Given the description of an element on the screen output the (x, y) to click on. 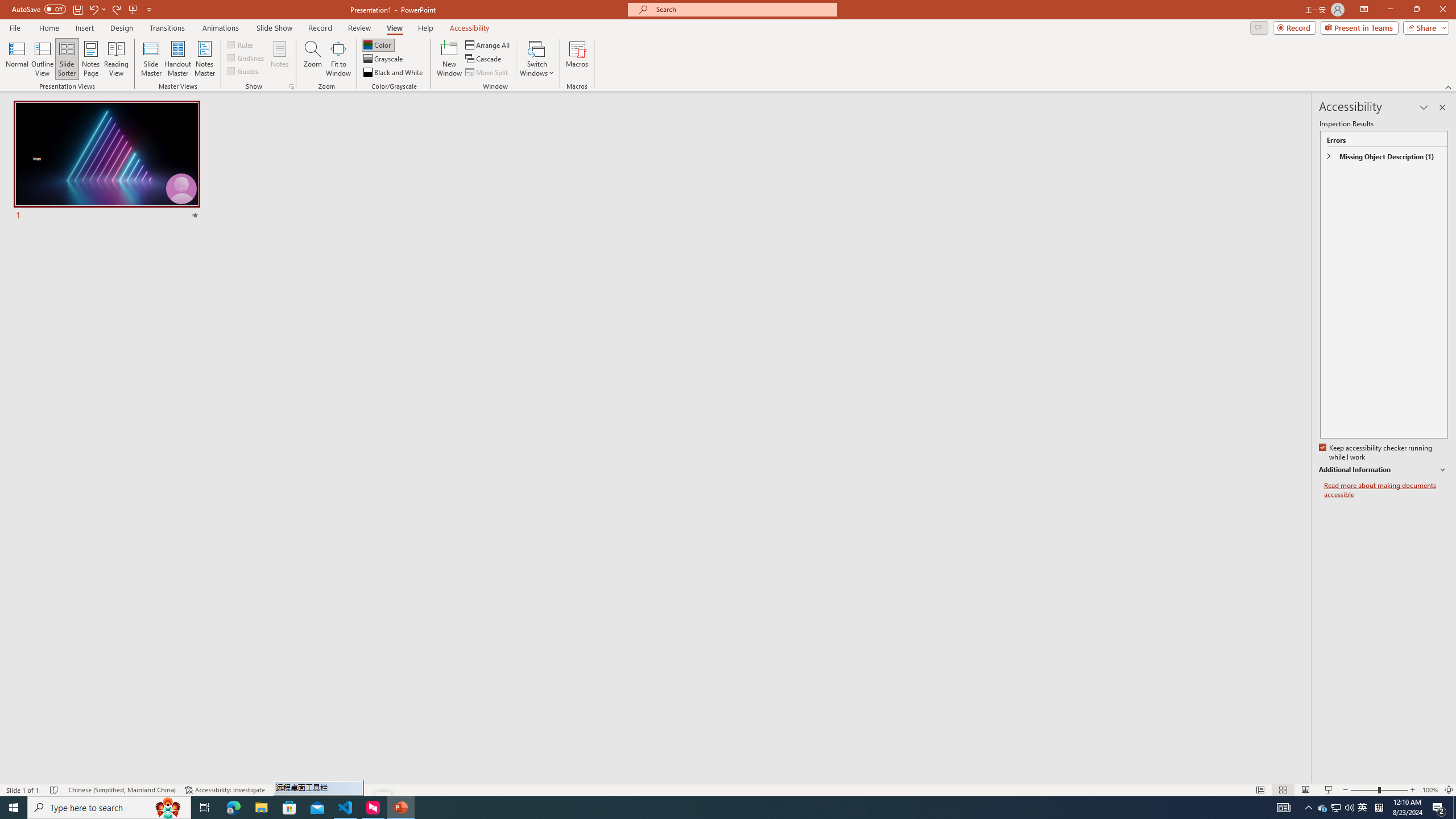
Fit to Window (338, 58)
Handout Master (177, 58)
Grayscale (383, 58)
Outline View (42, 58)
Macros (576, 58)
Zoom 100% (1430, 790)
Cascade (484, 58)
